Given the description of an element on the screen output the (x, y) to click on. 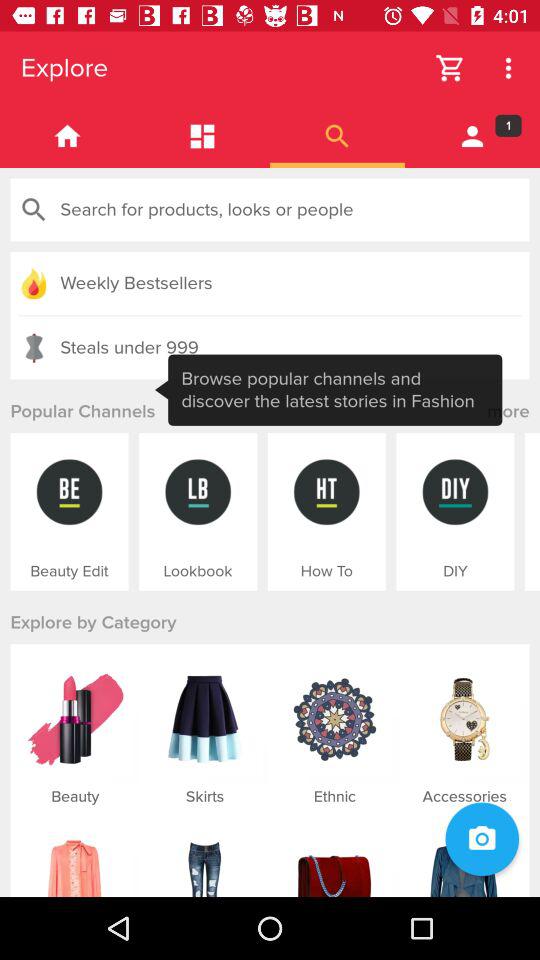
take a photo or upload an existing photo (482, 839)
